Given the description of an element on the screen output the (x, y) to click on. 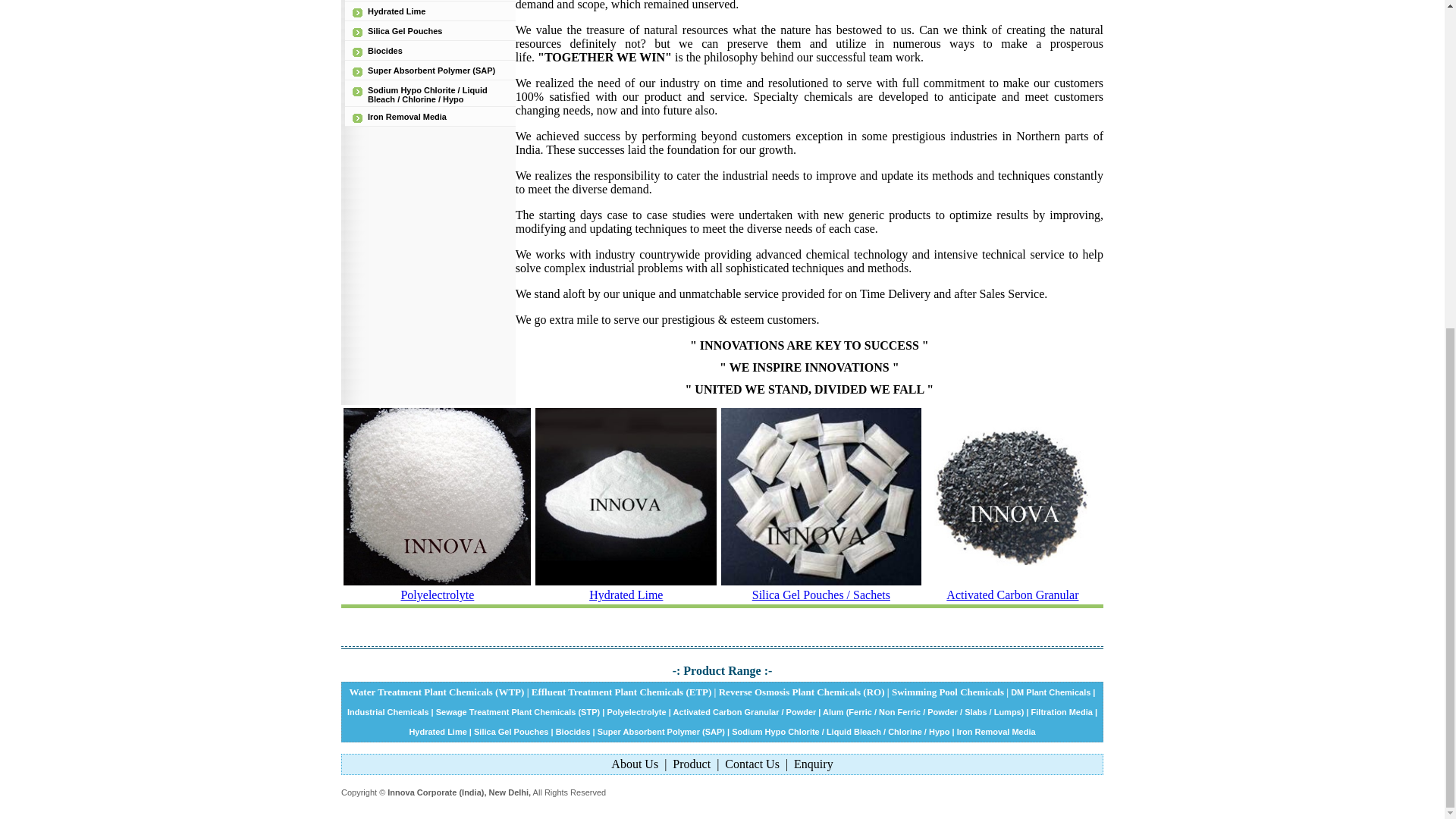
Biocides (385, 50)
Iron Removal Media (407, 116)
Swimming Pool Chemicals (947, 691)
Hydrated Lime (396, 10)
Industrial Chemicals (388, 711)
Polyelectrolyte (437, 594)
Silica Gel Pouches (405, 31)
Activated Carbon Granular (1012, 594)
Polyelectrolyte (636, 711)
DM Plant Chemicals (1050, 691)
